Given the description of an element on the screen output the (x, y) to click on. 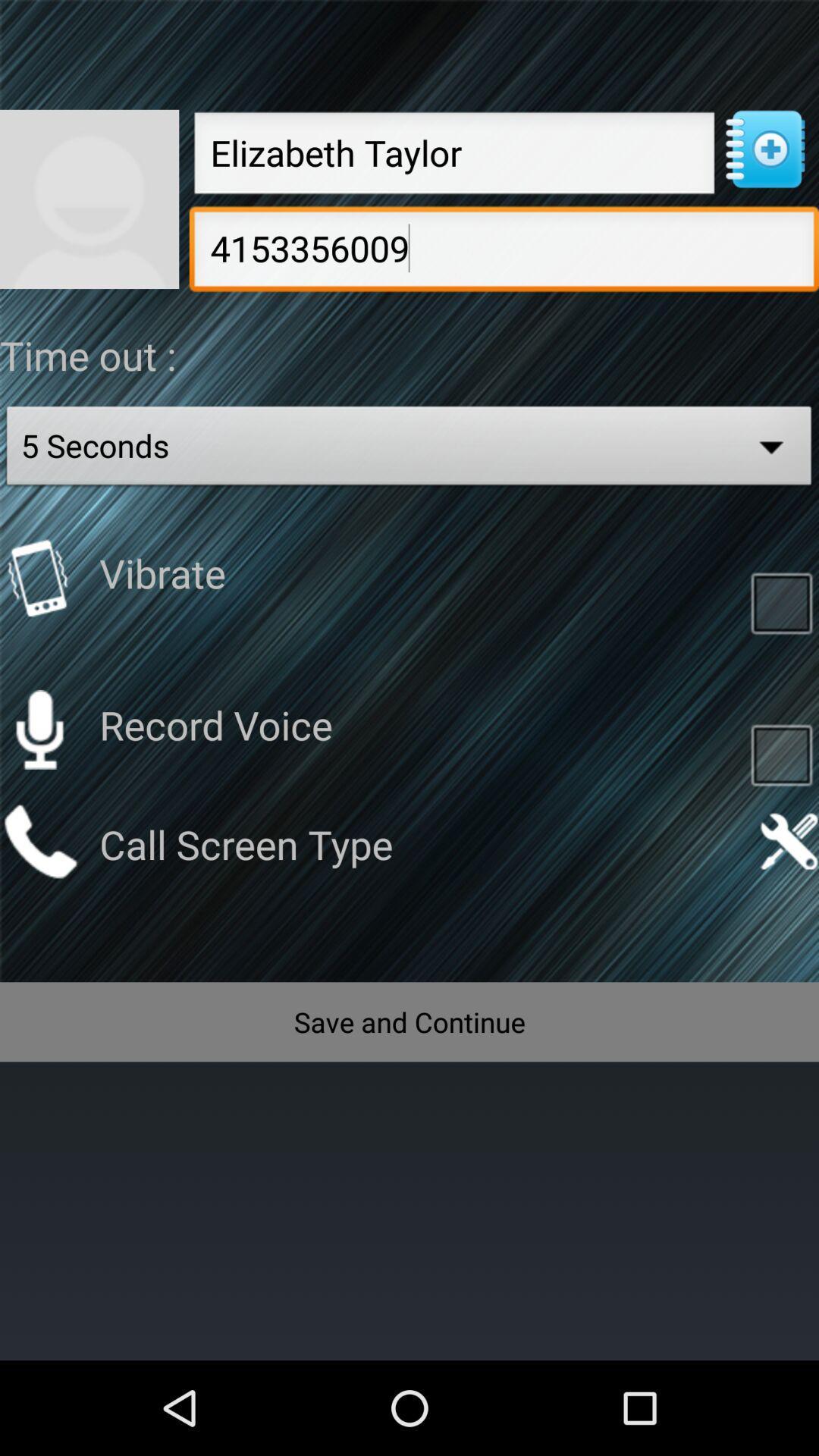
tap to record (781, 753)
